Given the description of an element on the screen output the (x, y) to click on. 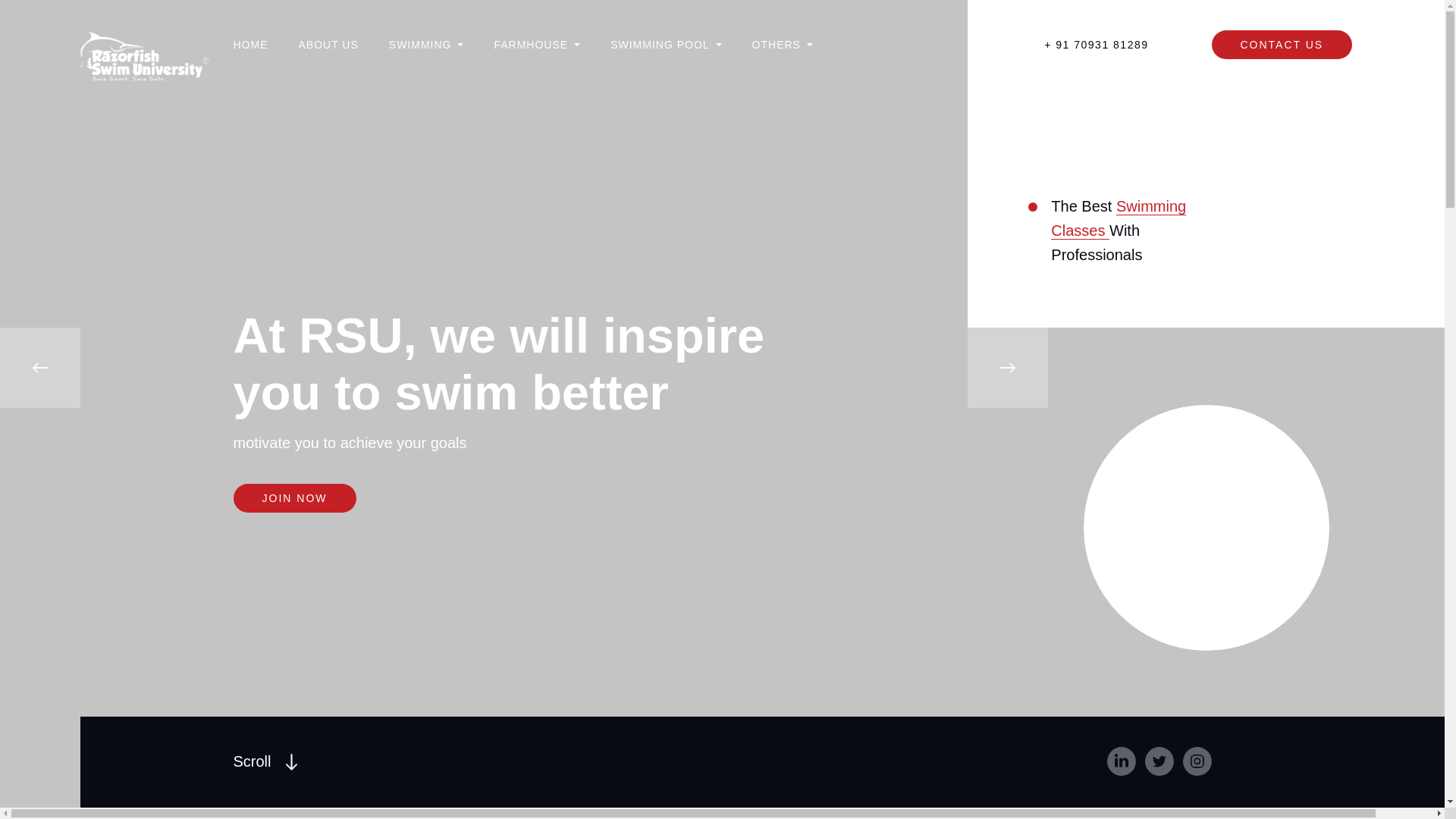
OTHERS (1118, 218)
Scroll (782, 44)
HOME (264, 760)
Scroll (249, 44)
CONTACT US (264, 760)
ABOUT US (522, 44)
SWIMMING POOL (1281, 44)
SWIMMING (328, 44)
JOIN NOW (665, 44)
FARMHOUSE (426, 44)
